Given the description of an element on the screen output the (x, y) to click on. 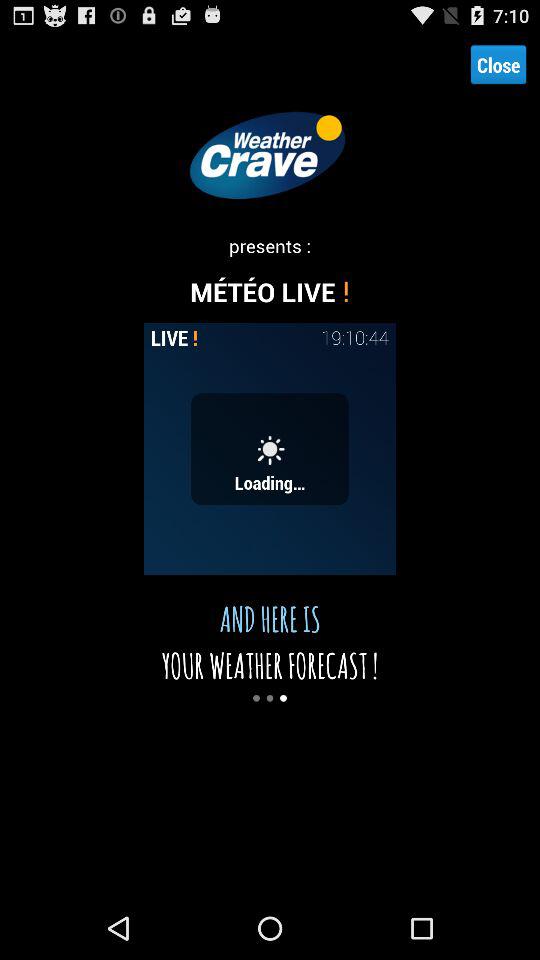
select the close item (498, 64)
